Given the description of an element on the screen output the (x, y) to click on. 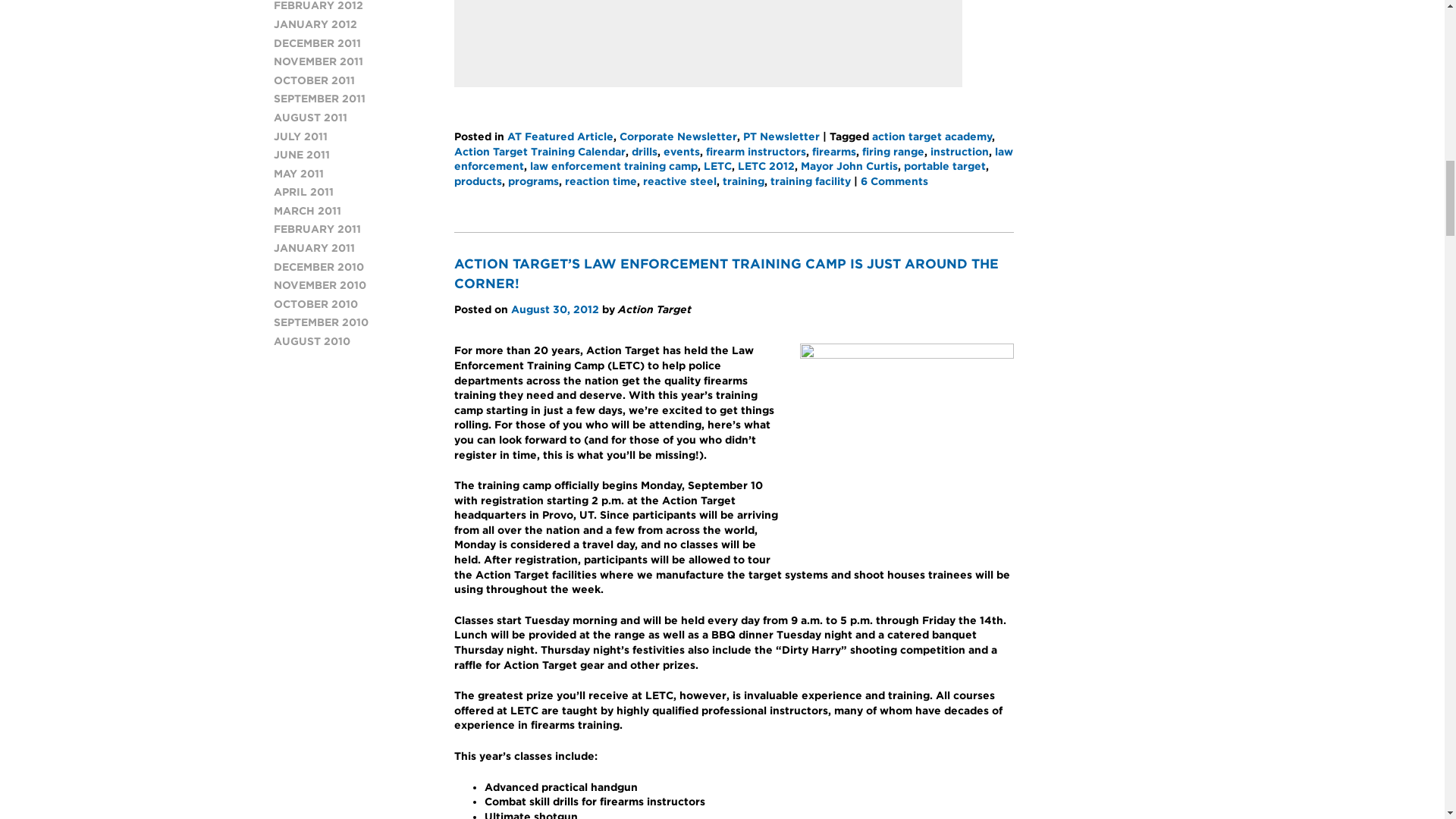
LETC Close Quarters (573, 40)
LETC Building (826, 40)
2012 letc logo-1 SQUARE (906, 450)
